Given the description of an element on the screen output the (x, y) to click on. 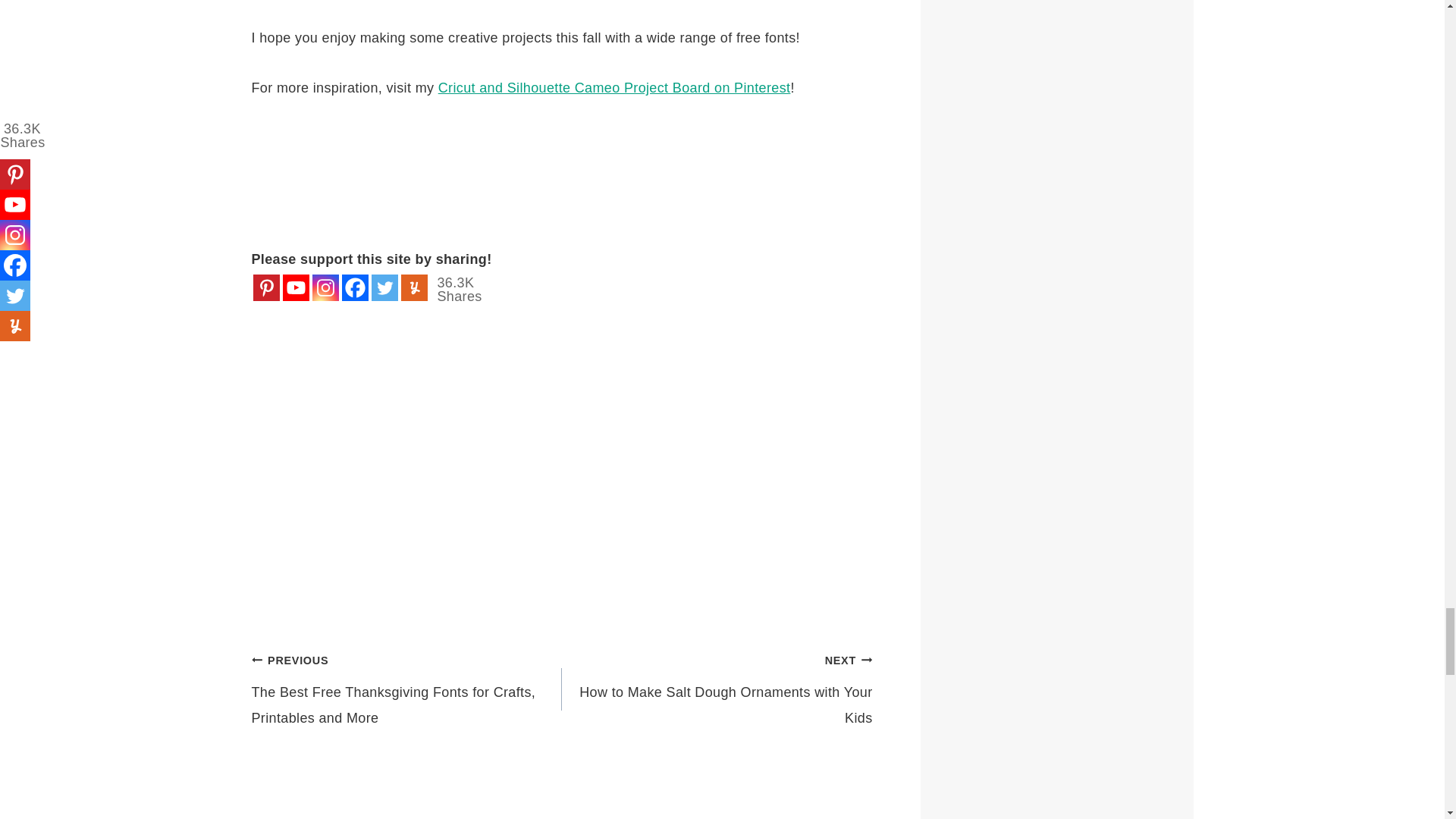
Instagram (326, 287)
Pinterest (266, 287)
Youtube (295, 287)
Facebook (354, 287)
